Given the description of an element on the screen output the (x, y) to click on. 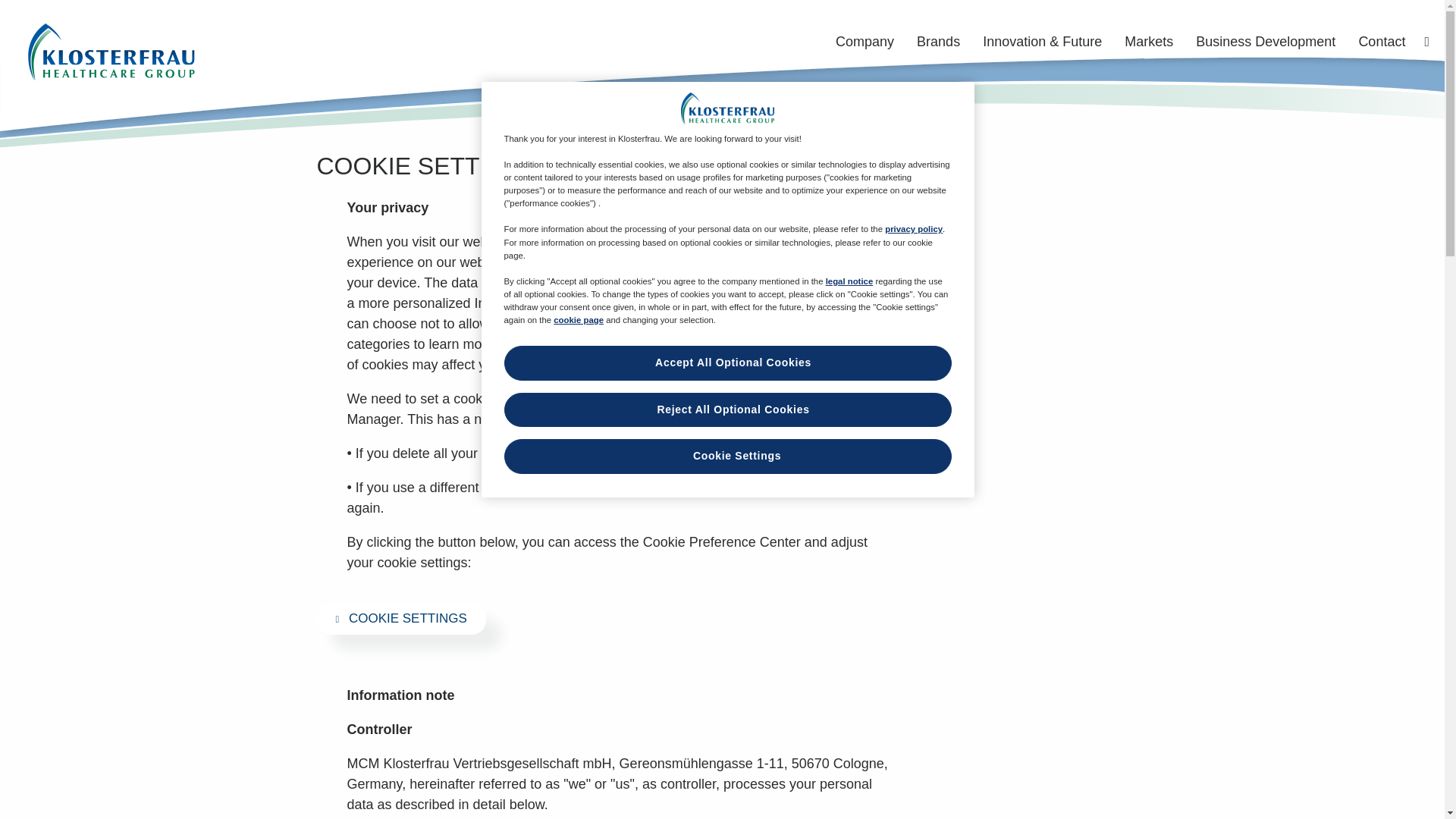
Company Logo (727, 108)
Brands (945, 42)
Business Development (1273, 42)
Company (871, 42)
COOKIE SETTINGS (401, 618)
Markets (1156, 42)
Contact (1388, 42)
